Given the description of an element on the screen output the (x, y) to click on. 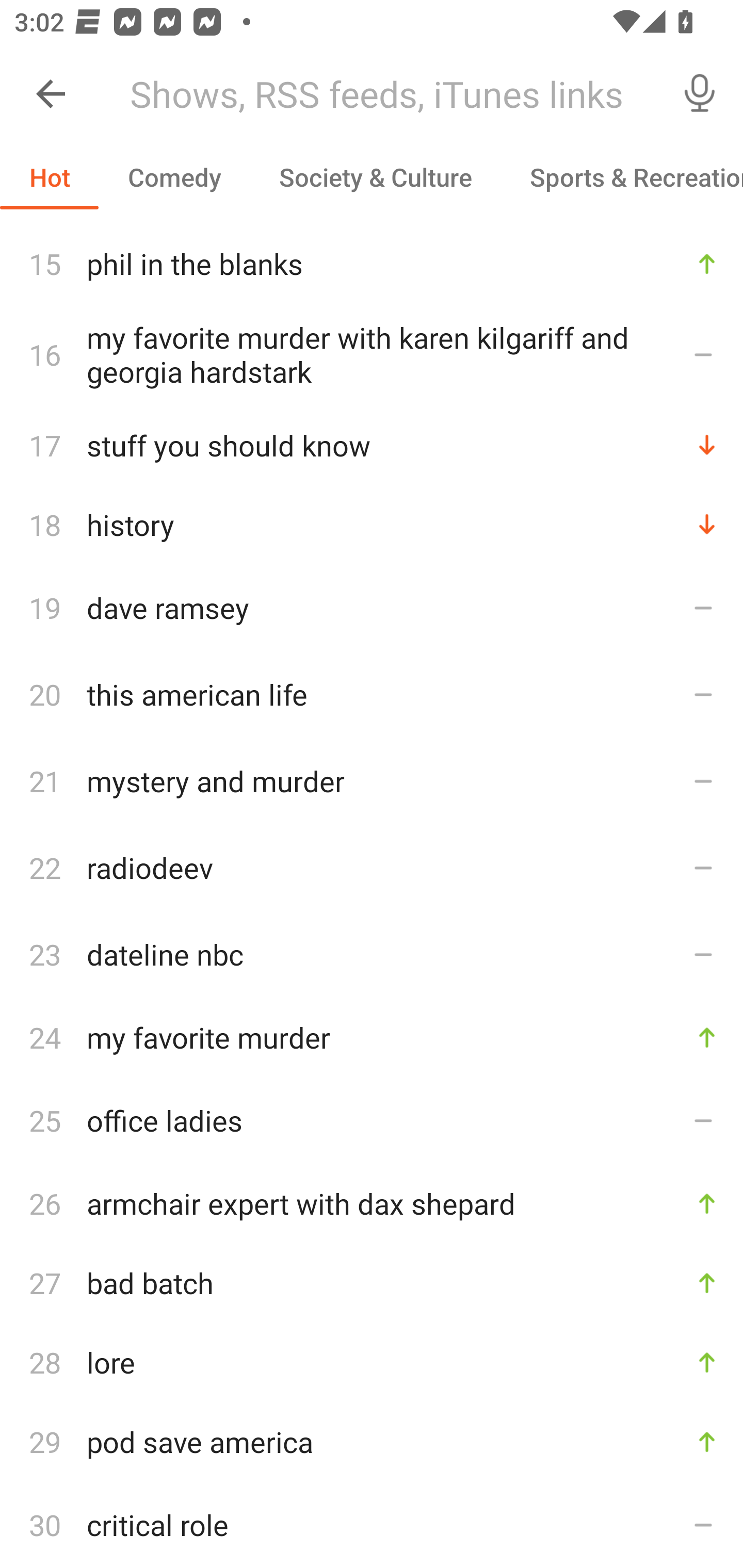
Collapse (50, 93)
Voice Search (699, 93)
Shows, RSS feeds, iTunes links (385, 94)
Hot (49, 177)
Comedy (173, 177)
Society & Culture (374, 177)
Sports & Recreation (621, 177)
15 phil in the blanks (371, 263)
17 stuff you should know (371, 445)
18 history (371, 524)
19 dave ramsey (371, 607)
20 this american life (371, 693)
21 mystery and murder (371, 780)
22 radiodeev (371, 867)
23 dateline nbc (371, 954)
24 my favorite murder (371, 1037)
25 office ladies (371, 1120)
26 armchair expert with dax shepard (371, 1203)
27 bad batch (371, 1282)
28 lore (371, 1361)
29 pod save america (371, 1441)
30 critical role (371, 1524)
